Given the description of an element on the screen output the (x, y) to click on. 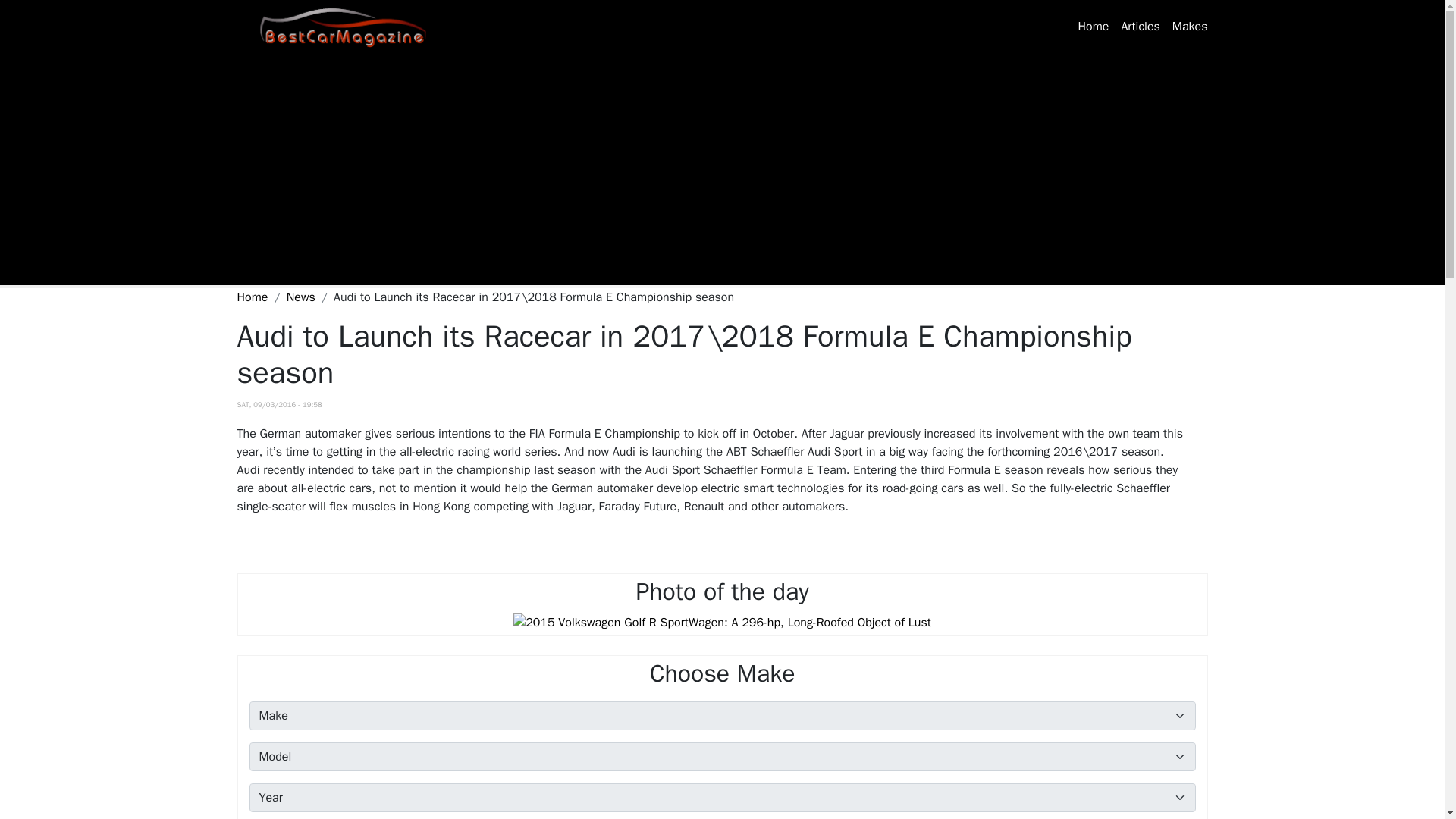
Home (251, 296)
News (300, 296)
Articles (1140, 26)
Makes (1190, 26)
Home (347, 26)
Home (1093, 26)
